Given the description of an element on the screen output the (x, y) to click on. 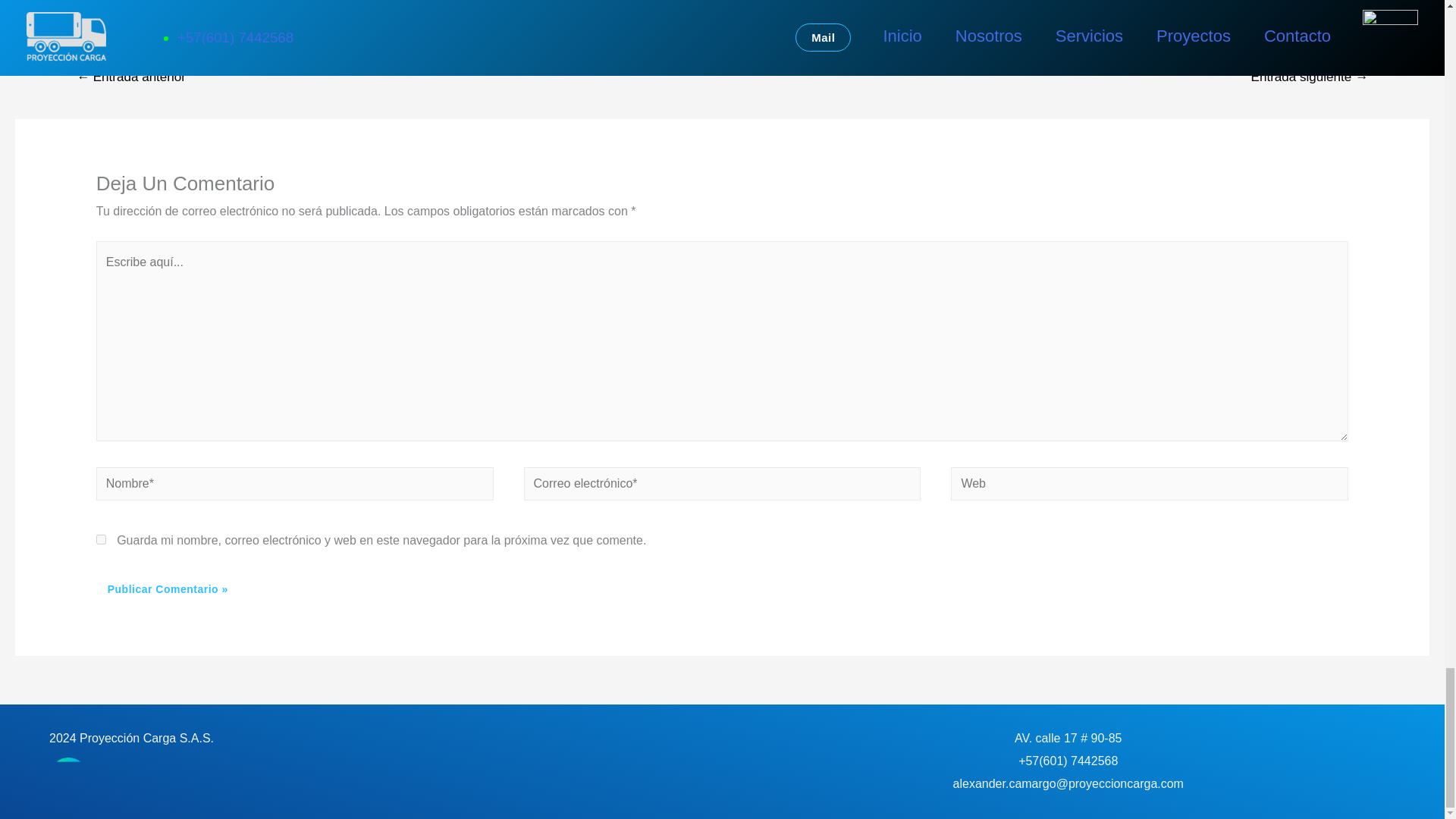
yes (101, 539)
